Given the description of an element on the screen output the (x, y) to click on. 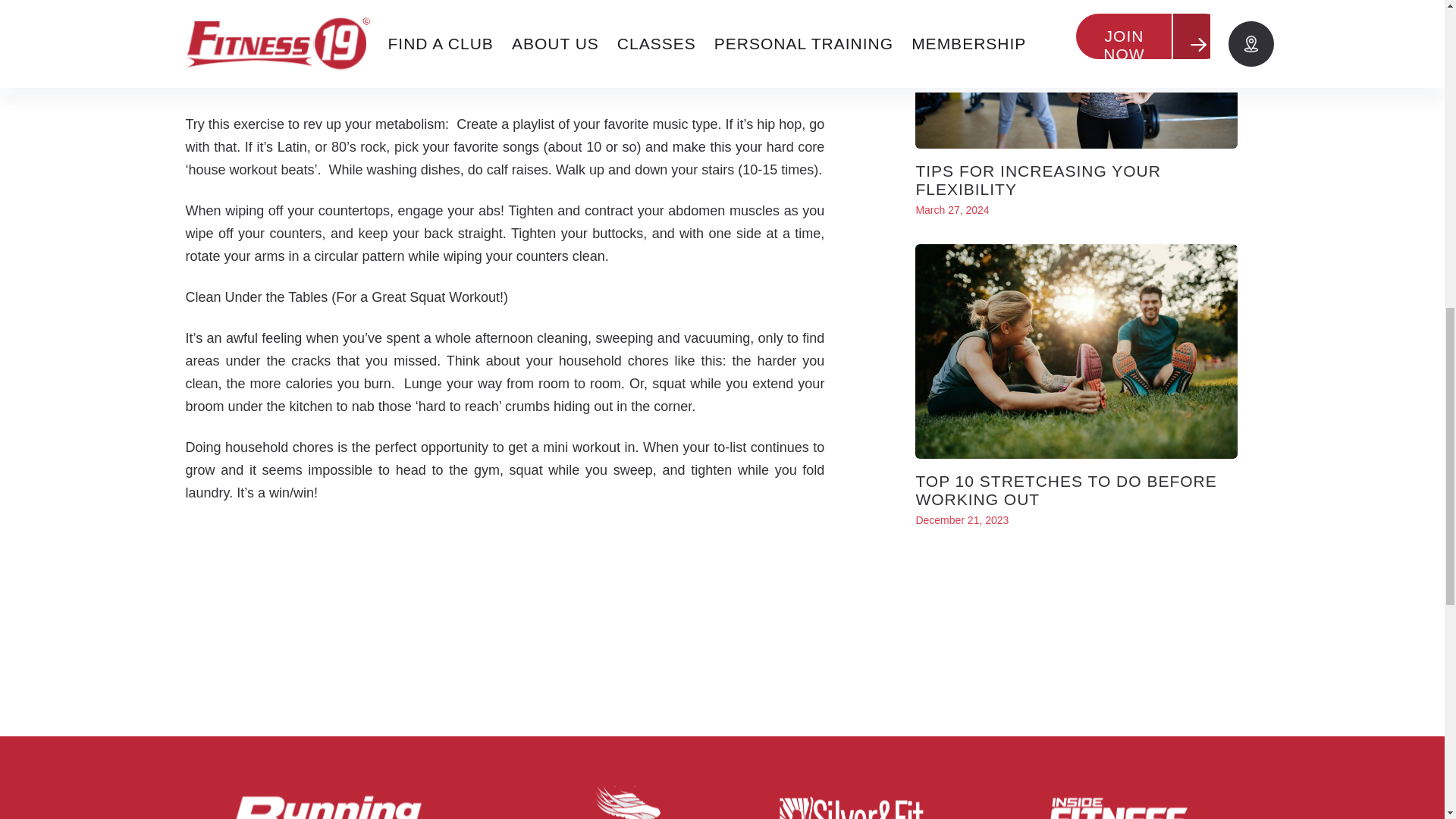
TIPS FOR INCREASING YOUR FLEXIBILITY (1037, 180)
2024-03-27T08:38:34-07:00 (951, 209)
March 27, 2024 (951, 209)
2023-12-21T12:00:00-08:00 (962, 520)
